Given the description of an element on the screen output the (x, y) to click on. 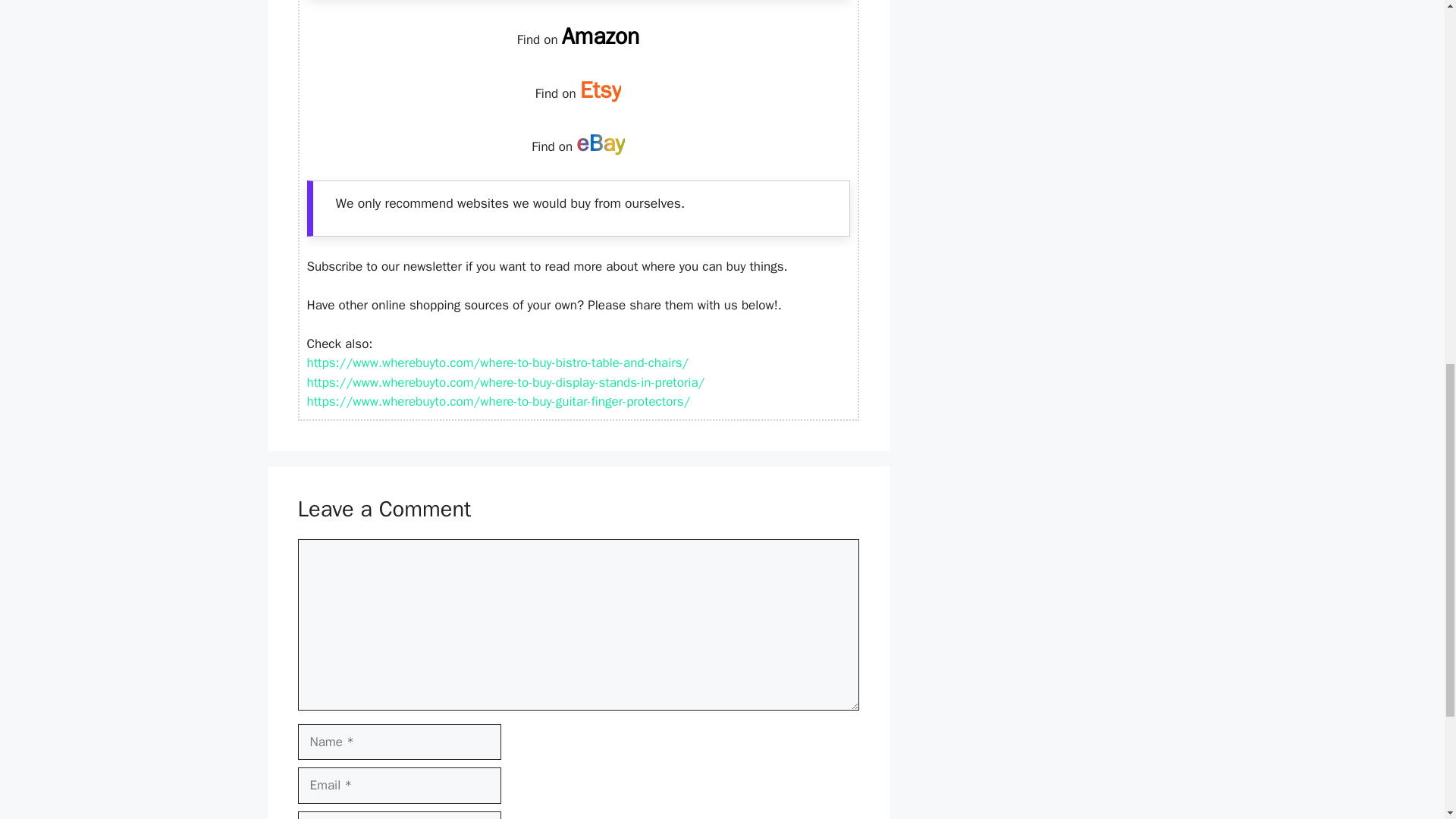
eBay (600, 143)
Amazon (600, 36)
Etsy (600, 90)
